Given the description of an element on the screen output the (x, y) to click on. 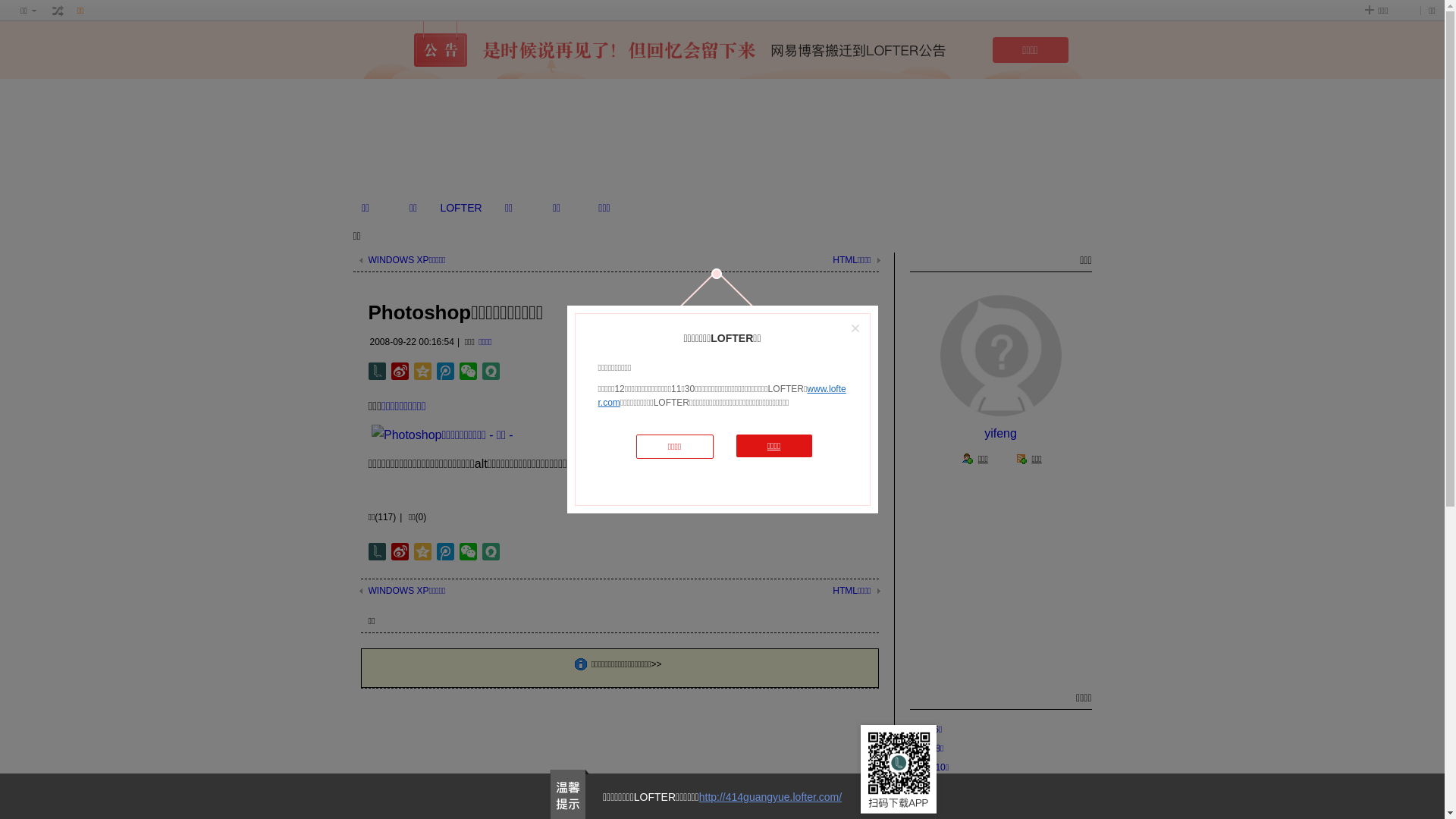
  Element type: text (58, 10)
http://414guangyue.lofter.com/ Element type: text (770, 796)
yifeng Element type: text (1000, 432)
LOFTER Element type: text (460, 207)
www.lofter.com Element type: text (721, 395)
